Given the description of an element on the screen output the (x, y) to click on. 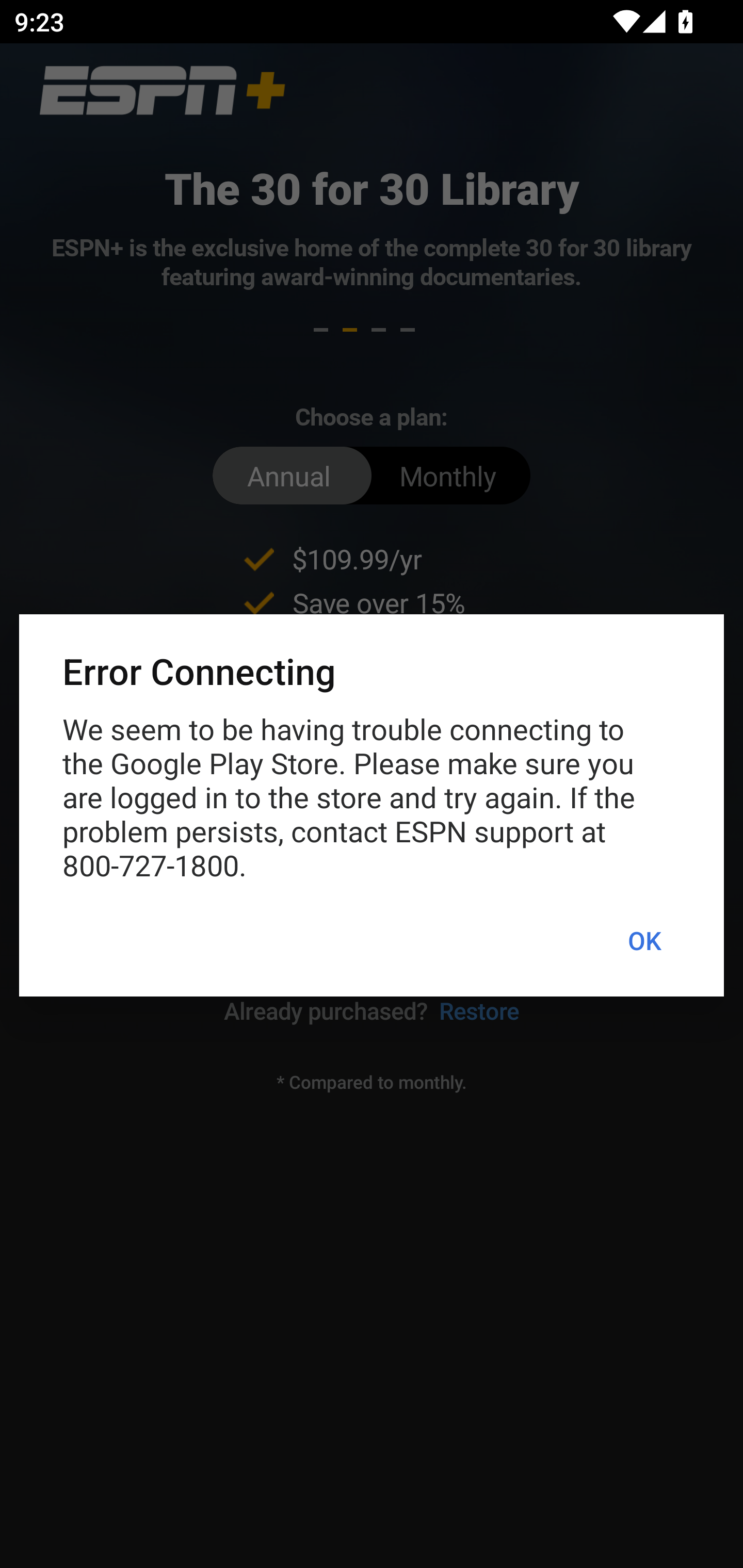
OK (644, 940)
